Given the description of an element on the screen output the (x, y) to click on. 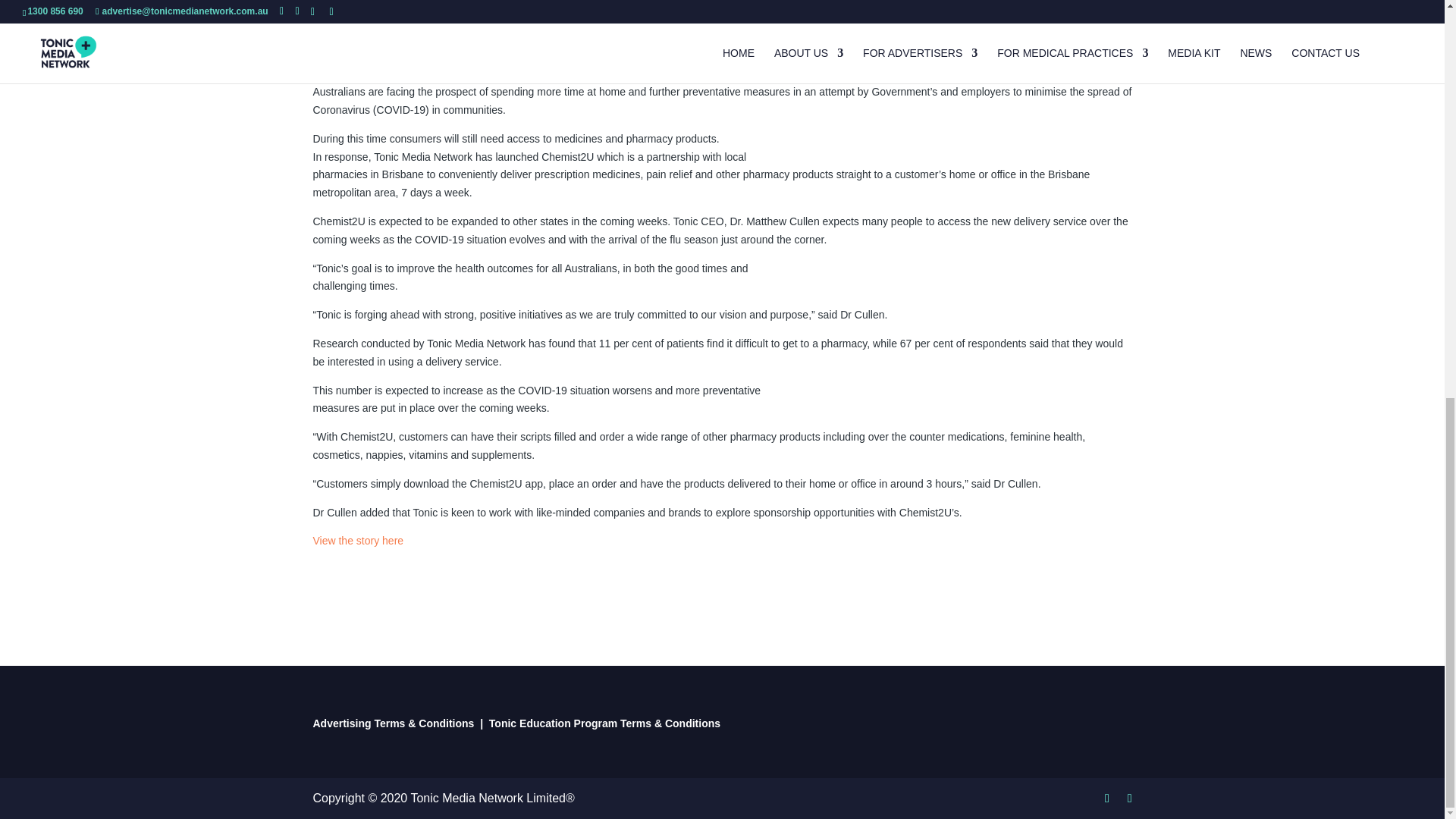
View the story here (358, 540)
